Given the description of an element on the screen output the (x, y) to click on. 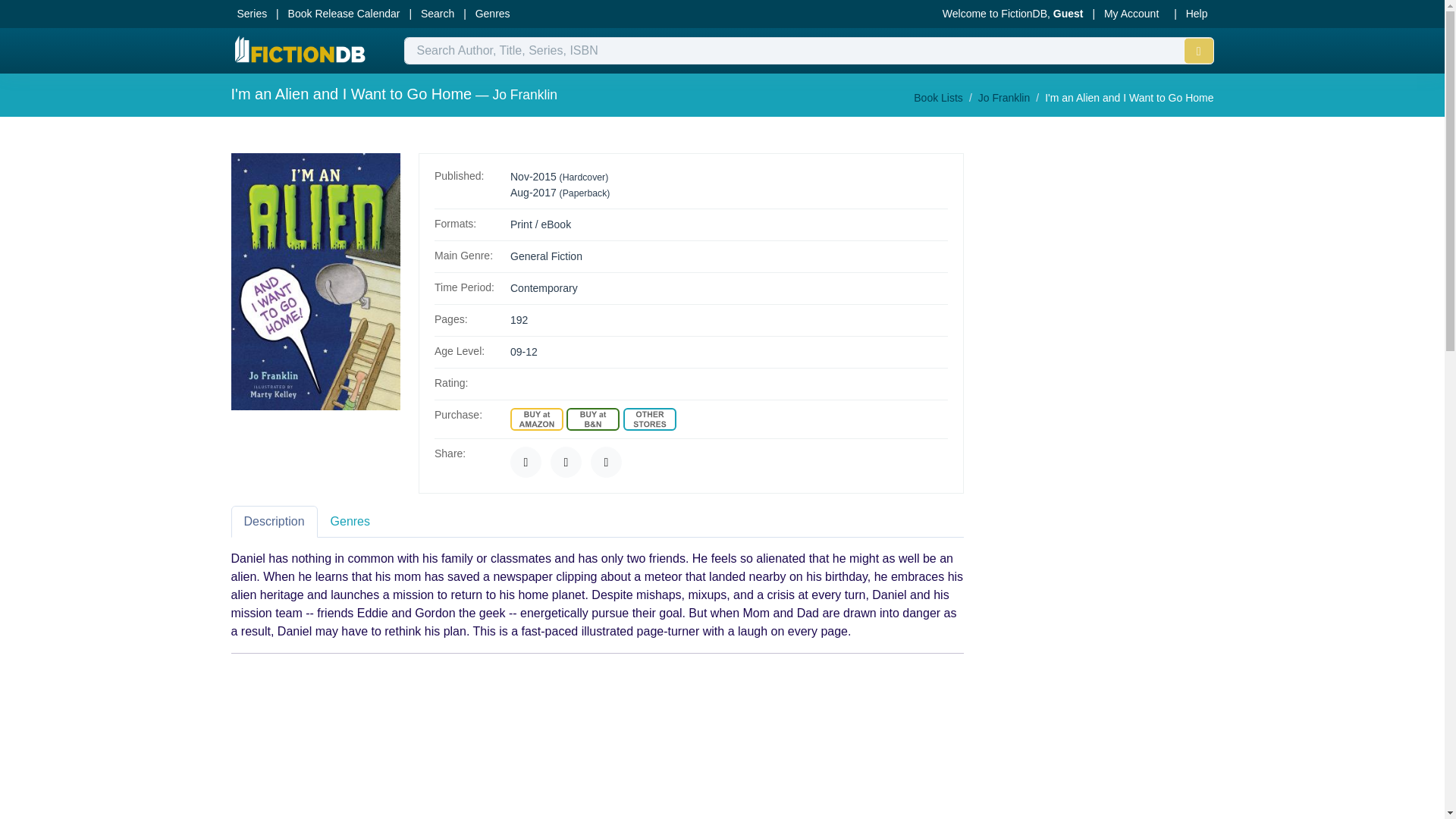
Help (1196, 13)
Buy This Book Now (537, 418)
Book Lists (938, 96)
Buy This Book Now (593, 418)
My Account (1130, 13)
Jo Franklin (1003, 96)
Genres (492, 13)
Buy This Book Now (650, 418)
Jo Franklin (524, 94)
Book Release Calendar (344, 13)
Series (251, 13)
Search (437, 13)
